Given the description of an element on the screen output the (x, y) to click on. 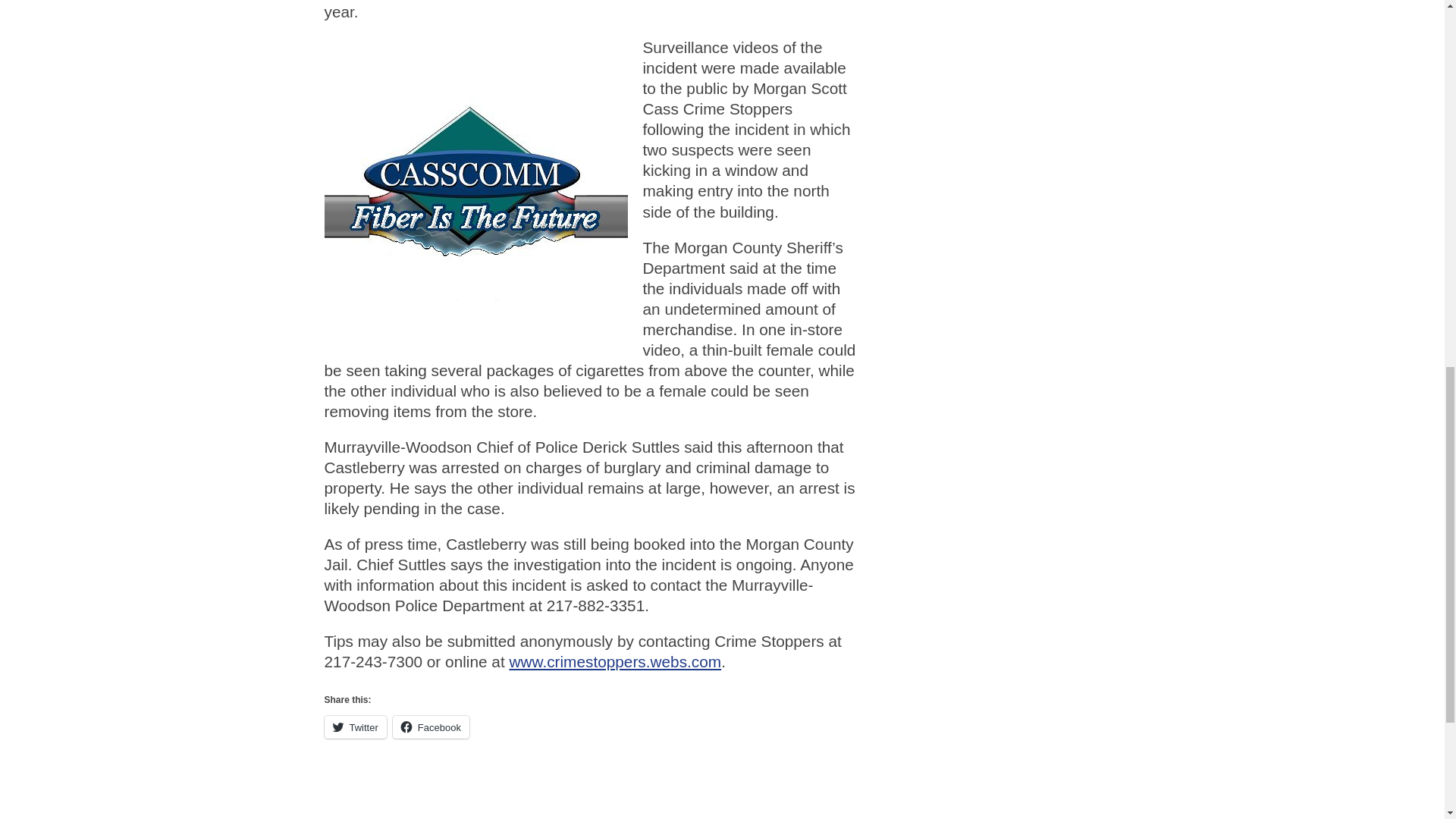
Click to share on Twitter (355, 726)
Twitter (355, 726)
Click to share on Facebook (430, 726)
www.crimestoppers.webs.com (614, 661)
Facebook (430, 726)
